Given the description of an element on the screen output the (x, y) to click on. 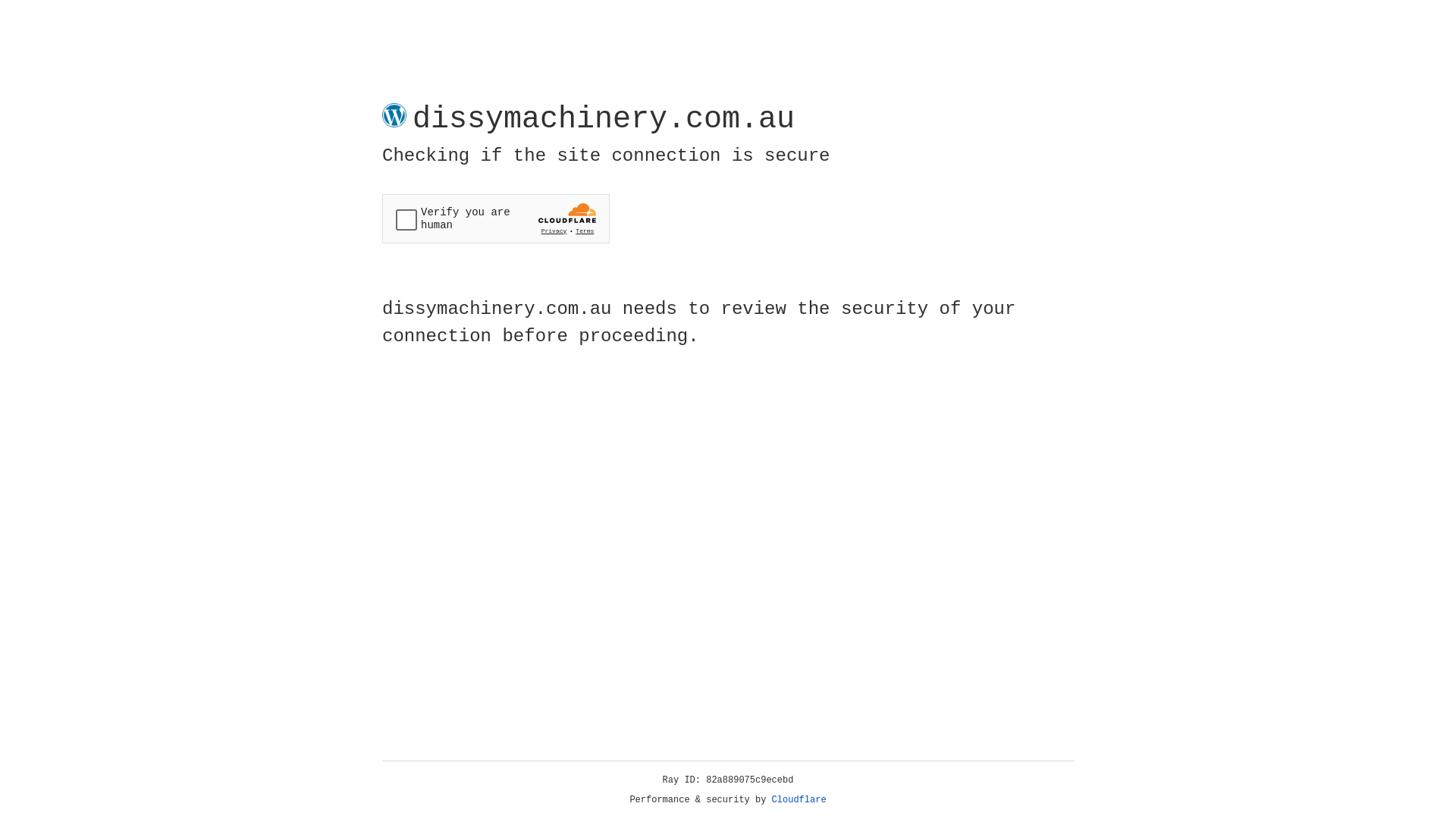
Cloudflare Element type: text (798, 799)
Widget containing a Cloudflare security challenge Element type: hover (495, 218)
